Given the description of an element on the screen output the (x, y) to click on. 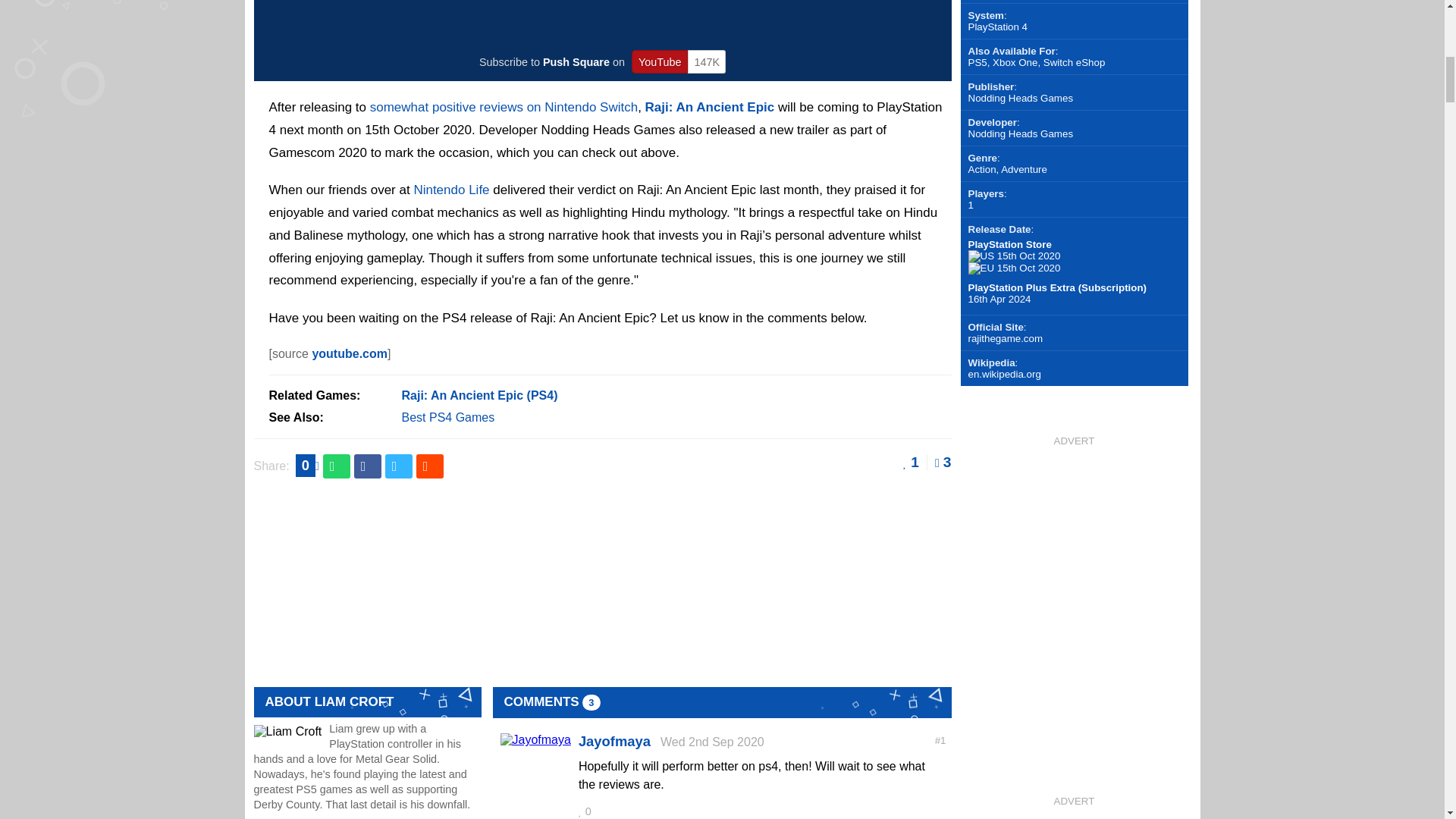
YouTube Video (602, 21)
Share this on Facebook (367, 466)
Share this on WhatsApp (336, 466)
